Given the description of an element on the screen output the (x, y) to click on. 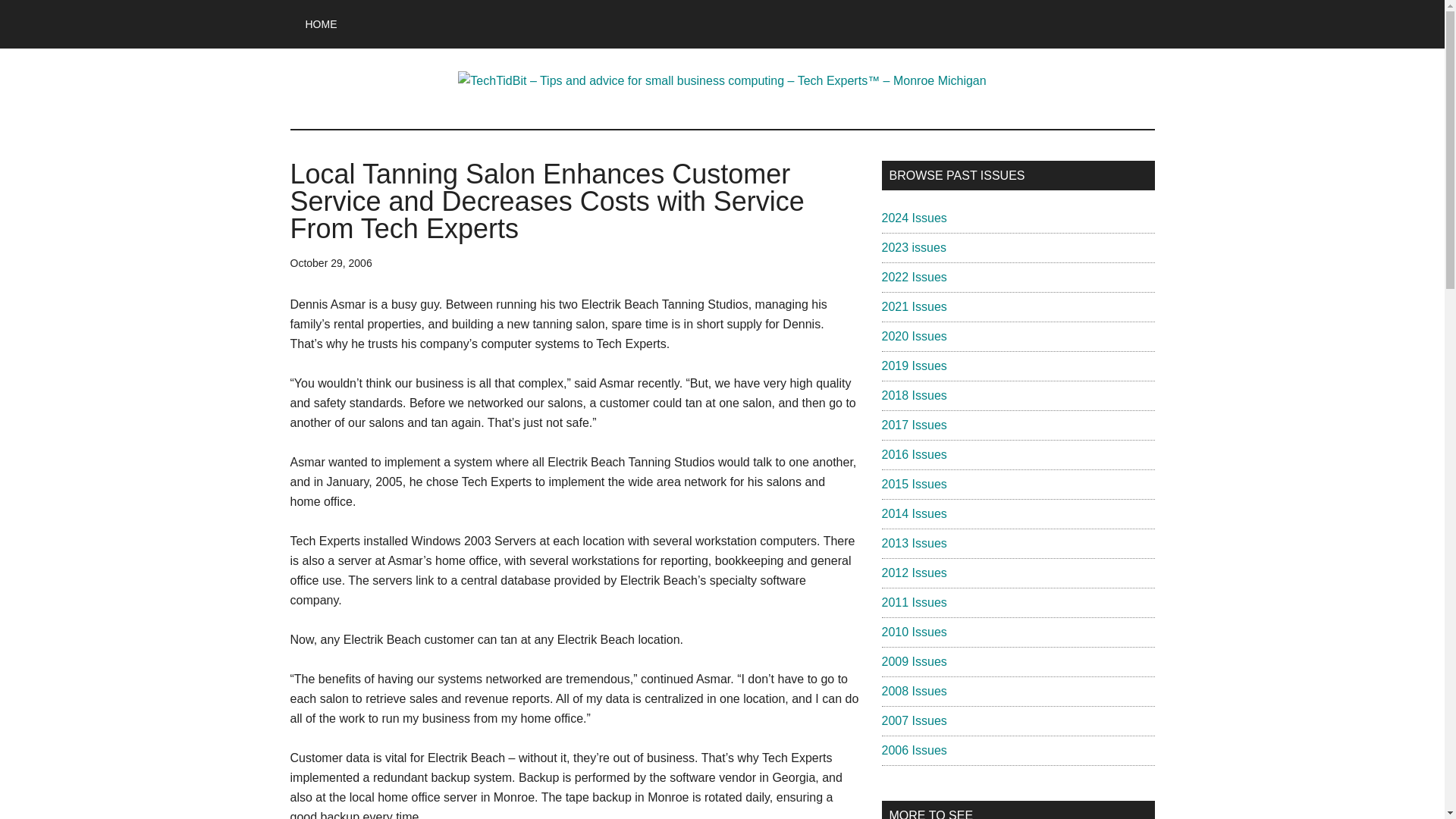
2009 Issues (913, 661)
2023 issues (912, 246)
2015 Issues (913, 483)
2017 Issues (913, 424)
2020 Issues (913, 336)
2024 Issues (913, 217)
2022 Issues (913, 277)
2019 Issues (913, 365)
HOME (320, 24)
2008 Issues (913, 690)
